Given the description of an element on the screen output the (x, y) to click on. 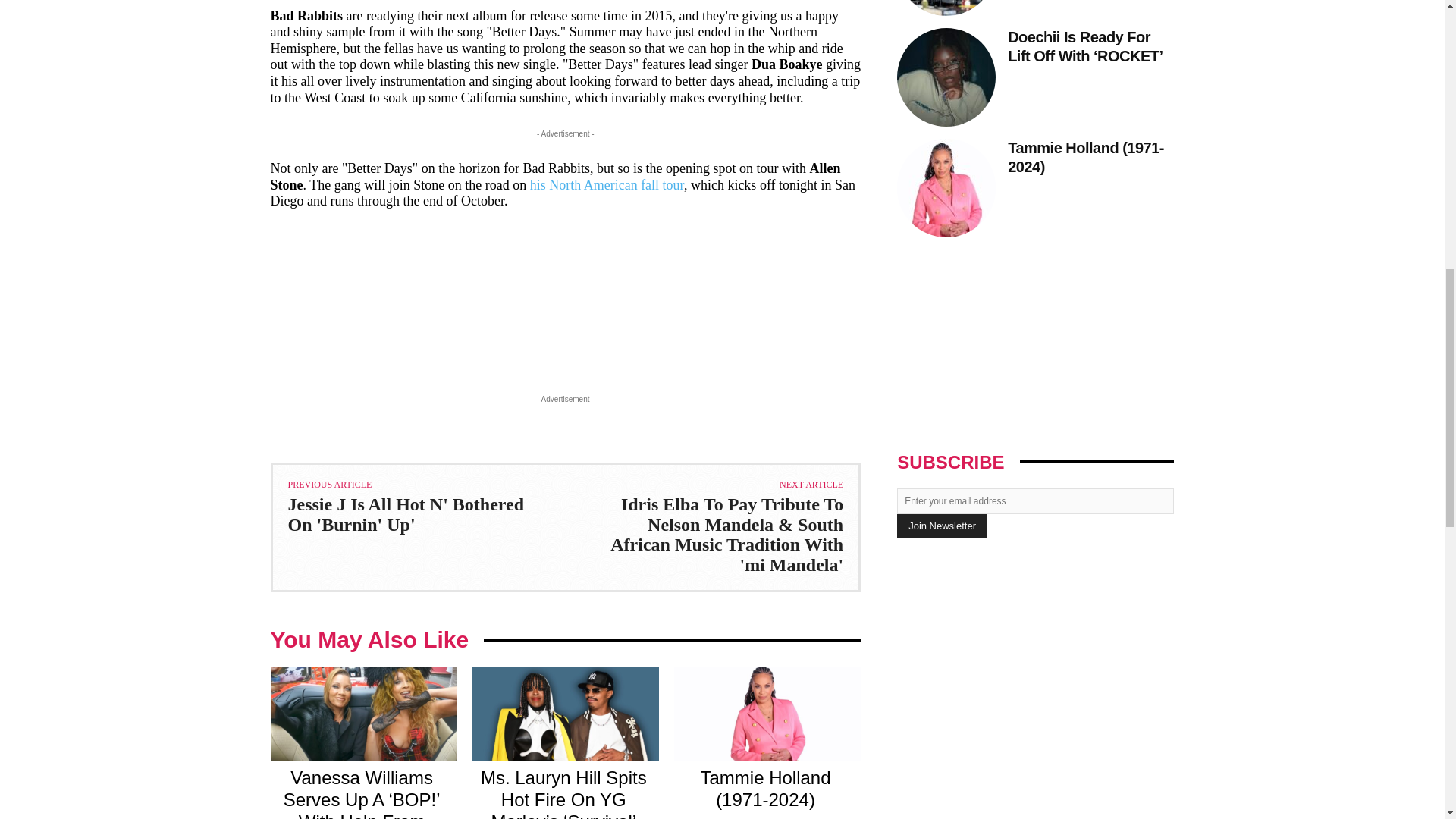
Join Newsletter (941, 525)
